Given the description of an element on the screen output the (x, y) to click on. 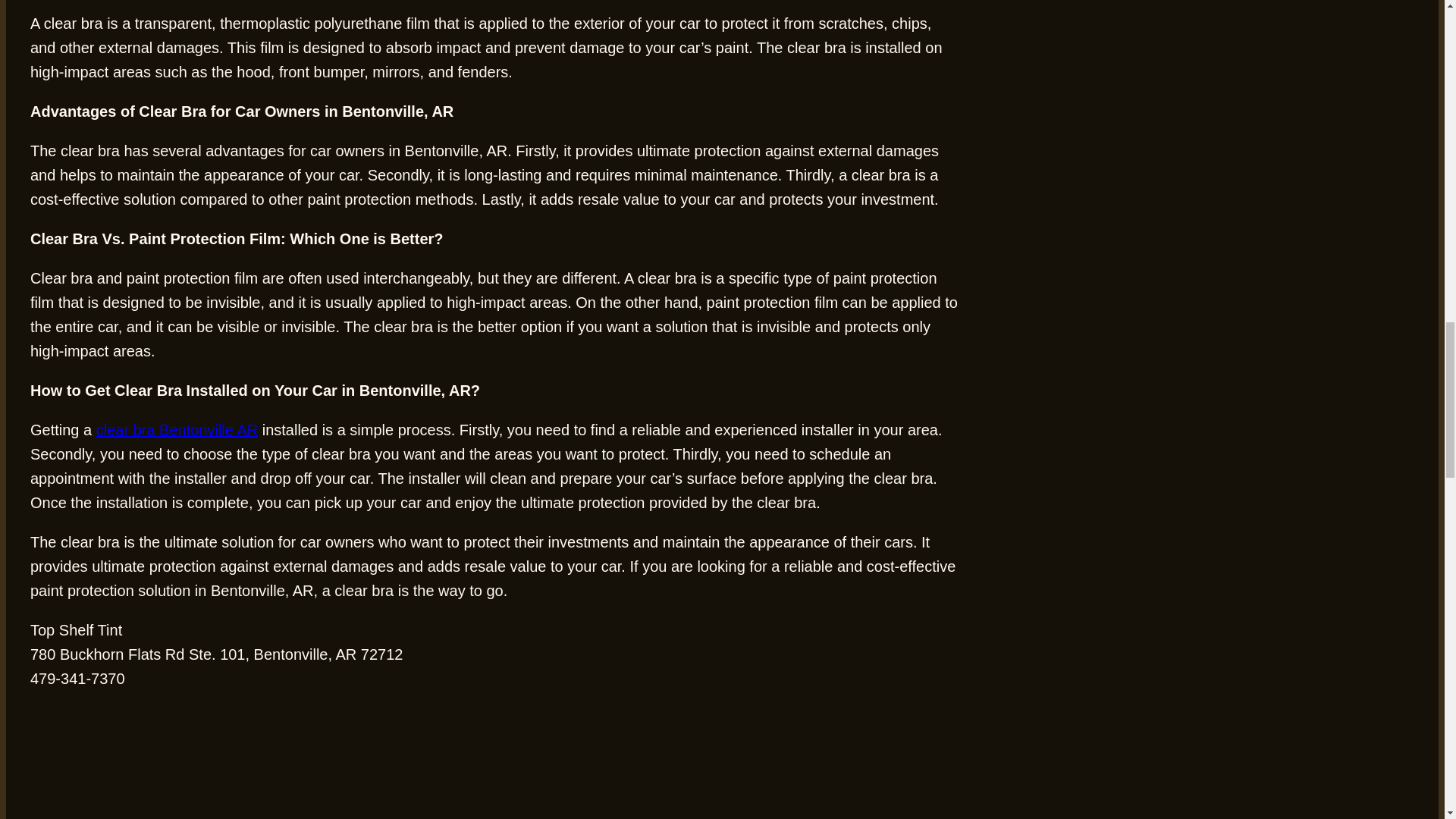
clear bra Bentonville AR (176, 429)
